Given the description of an element on the screen output the (x, y) to click on. 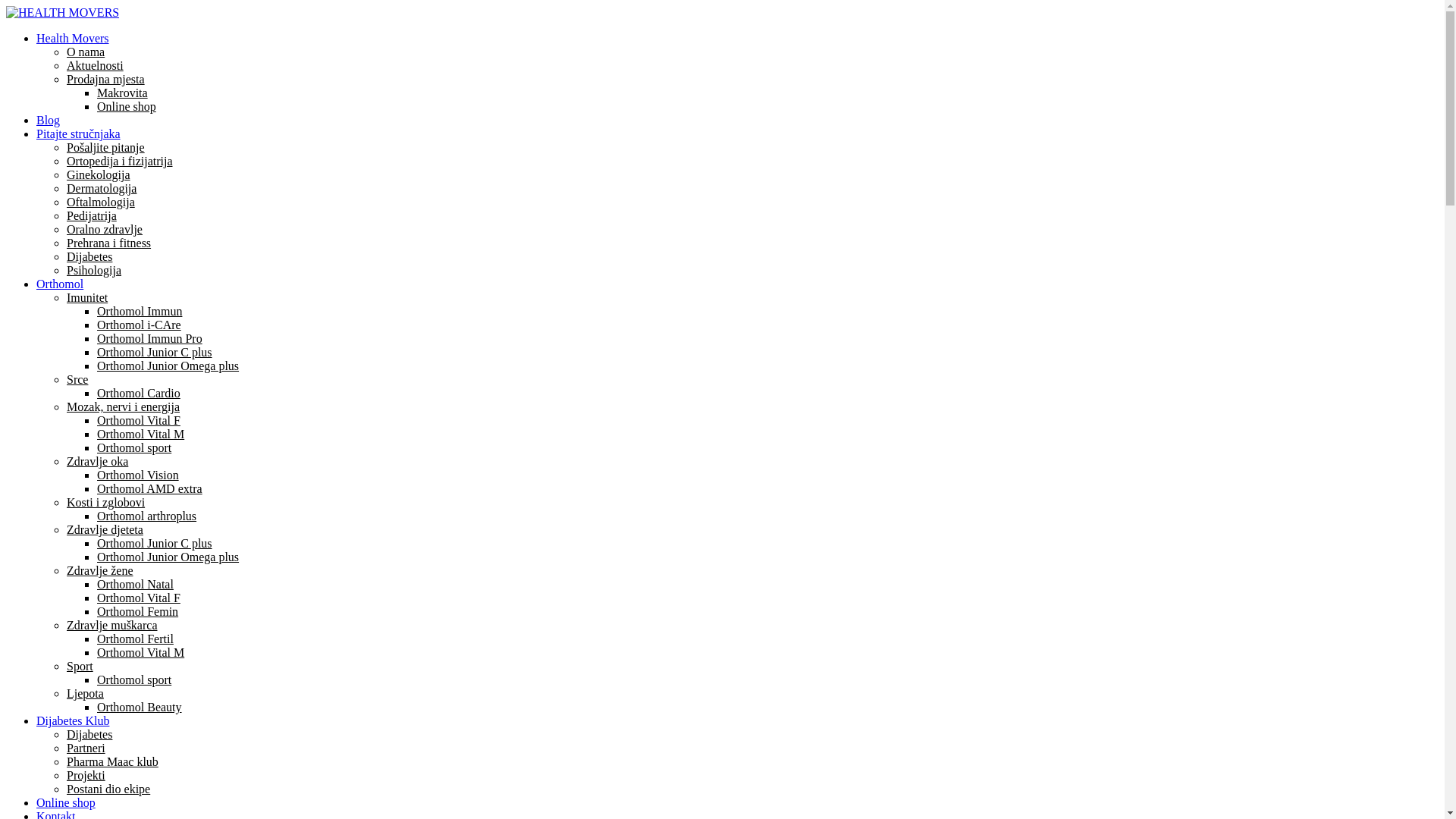
Postani dio ekipe Element type: text (108, 788)
Orthomol Element type: text (59, 283)
Dijabetes Klub Element type: text (72, 720)
Orthomol sport Element type: text (134, 447)
Orthomol Immun Element type: text (139, 310)
Prehrana i fitness Element type: text (108, 242)
Orthomol Vision Element type: text (137, 474)
Psihologija Element type: text (93, 269)
Orthomol Vital F Element type: text (138, 597)
Srce Element type: text (76, 379)
Orthomol Immun Pro Element type: text (149, 338)
Imunitet Element type: text (86, 297)
Orthomol Junior Omega plus Element type: text (167, 556)
Orthomol Vital M Element type: text (140, 433)
Ginekologija Element type: text (98, 174)
Orthomol Fertil Element type: text (135, 638)
Orthomol Femin Element type: text (137, 611)
Orthomol Vital M Element type: text (140, 652)
Prodajna mjesta Element type: text (105, 78)
Dijabetes Element type: text (89, 256)
Orthomol arthroplus Element type: text (146, 515)
Pedijatrija Element type: text (91, 215)
Dermatologija Element type: text (101, 188)
Health Movers Element type: text (72, 37)
Orthomol Junior C plus Element type: text (154, 542)
Dijabetes Element type: text (89, 734)
Orthomol i-CAre Element type: text (139, 324)
Aktuelnosti Element type: text (94, 65)
Zdravlje oka Element type: text (97, 461)
Online shop Element type: text (65, 802)
Makrovita Element type: text (122, 92)
Blog Element type: text (47, 119)
Ljepota Element type: text (84, 693)
Oftalmologija Element type: text (100, 201)
Ortopedija i fizijatrija Element type: text (119, 160)
Orthomol AMD extra Element type: text (149, 488)
Orthomol Junior Omega plus Element type: text (167, 365)
Online shop Element type: text (126, 106)
Partneri Element type: text (85, 747)
Zdravlje djeteta Element type: text (104, 529)
Kosti i zglobovi Element type: text (105, 501)
Oralno zdravlje Element type: text (104, 228)
Mozak, nervi i energija Element type: text (122, 406)
Sport Element type: text (79, 665)
Orthomol Beauty Element type: text (139, 706)
Orthomol sport Element type: text (134, 679)
Orthomol Natal Element type: text (135, 583)
Pharma Maac klub Element type: text (112, 761)
O nama Element type: text (85, 51)
Orthomol Cardio Element type: text (138, 392)
Projekti Element type: text (85, 774)
Orthomol Junior C plus Element type: text (154, 351)
Orthomol Vital F Element type: text (138, 420)
